Given the description of an element on the screen output the (x, y) to click on. 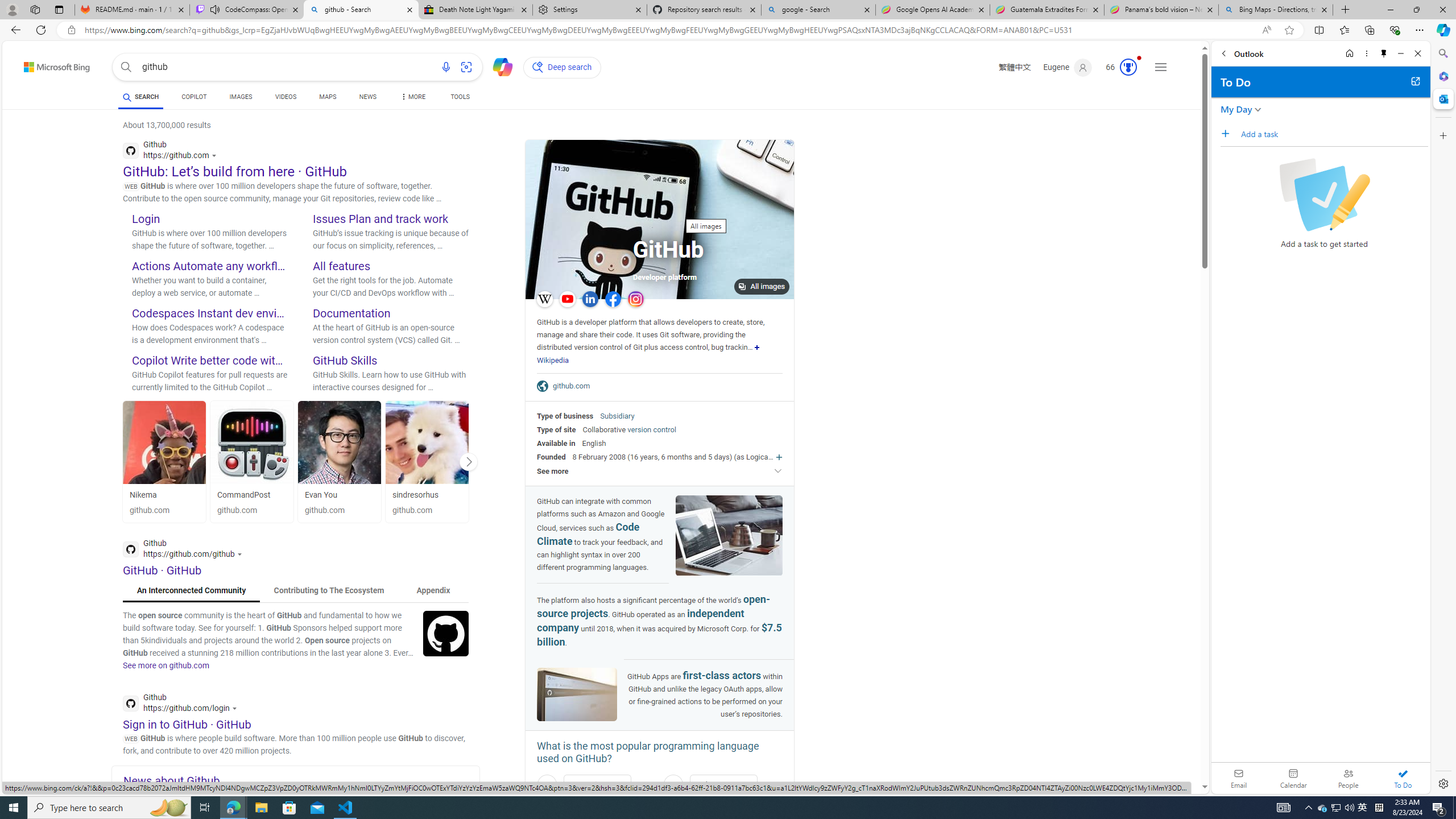
News about Github (301, 780)
To Do (1402, 777)
Evan You (339, 442)
COPILOT (193, 96)
Email (1238, 777)
Contributing to The Ecosystem (328, 590)
Google Opens AI Academy for Startups - Nearshore Americas (932, 9)
COPILOT (193, 98)
Documentation (351, 313)
version control (651, 429)
Checkbox with a pencil (1324, 194)
